Given the description of an element on the screen output the (x, y) to click on. 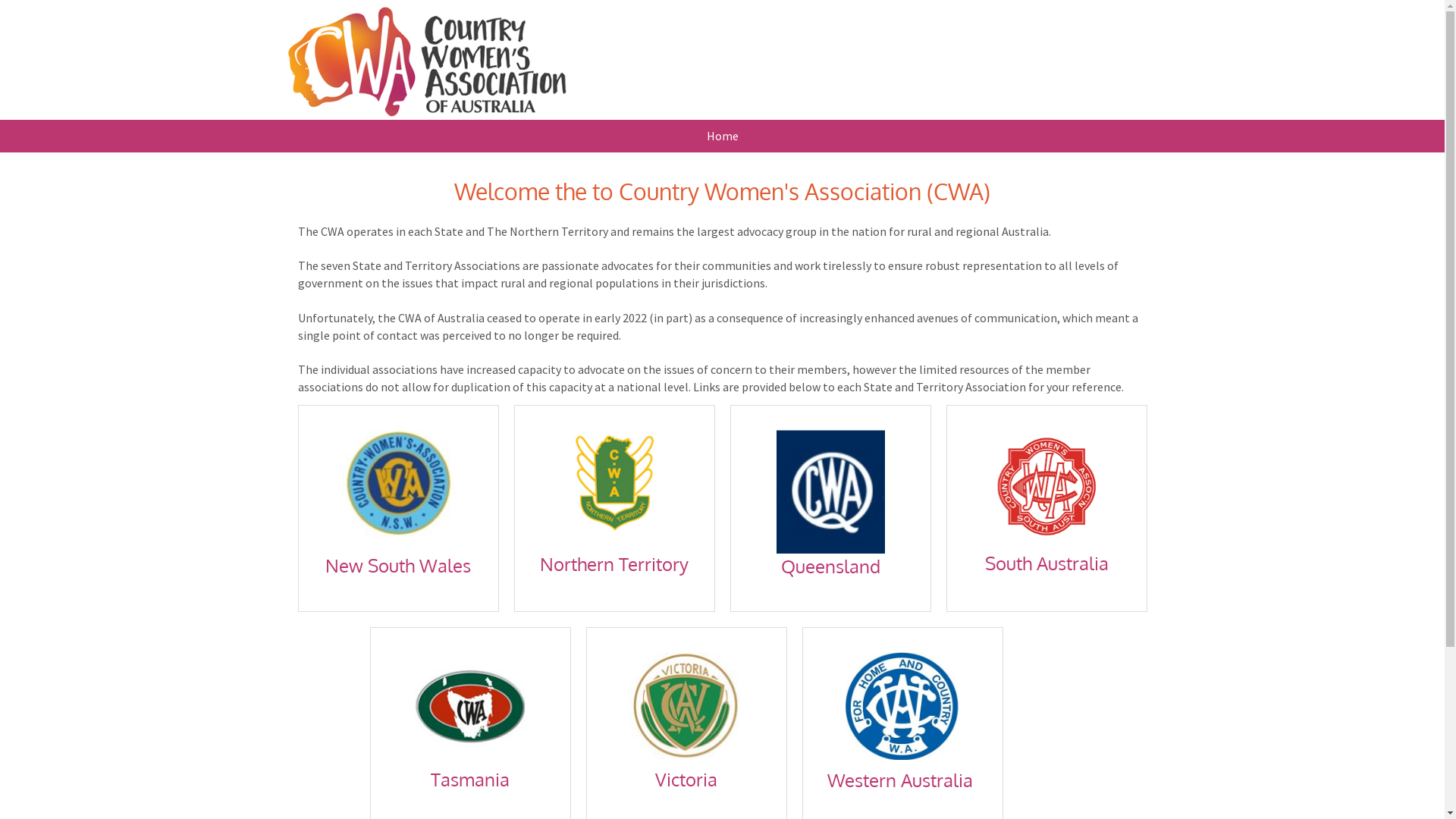
Tasmania Element type: text (469, 778)
Victoria Element type: text (686, 778)
Queensland Element type: text (830, 565)
Northern Territory Element type: text (613, 563)
New South Wales Element type: text (397, 565)
Home Element type: text (721, 135)
Australia Element type: text (1071, 562)
Australia Element type: text (936, 779)
